Given the description of an element on the screen output the (x, y) to click on. 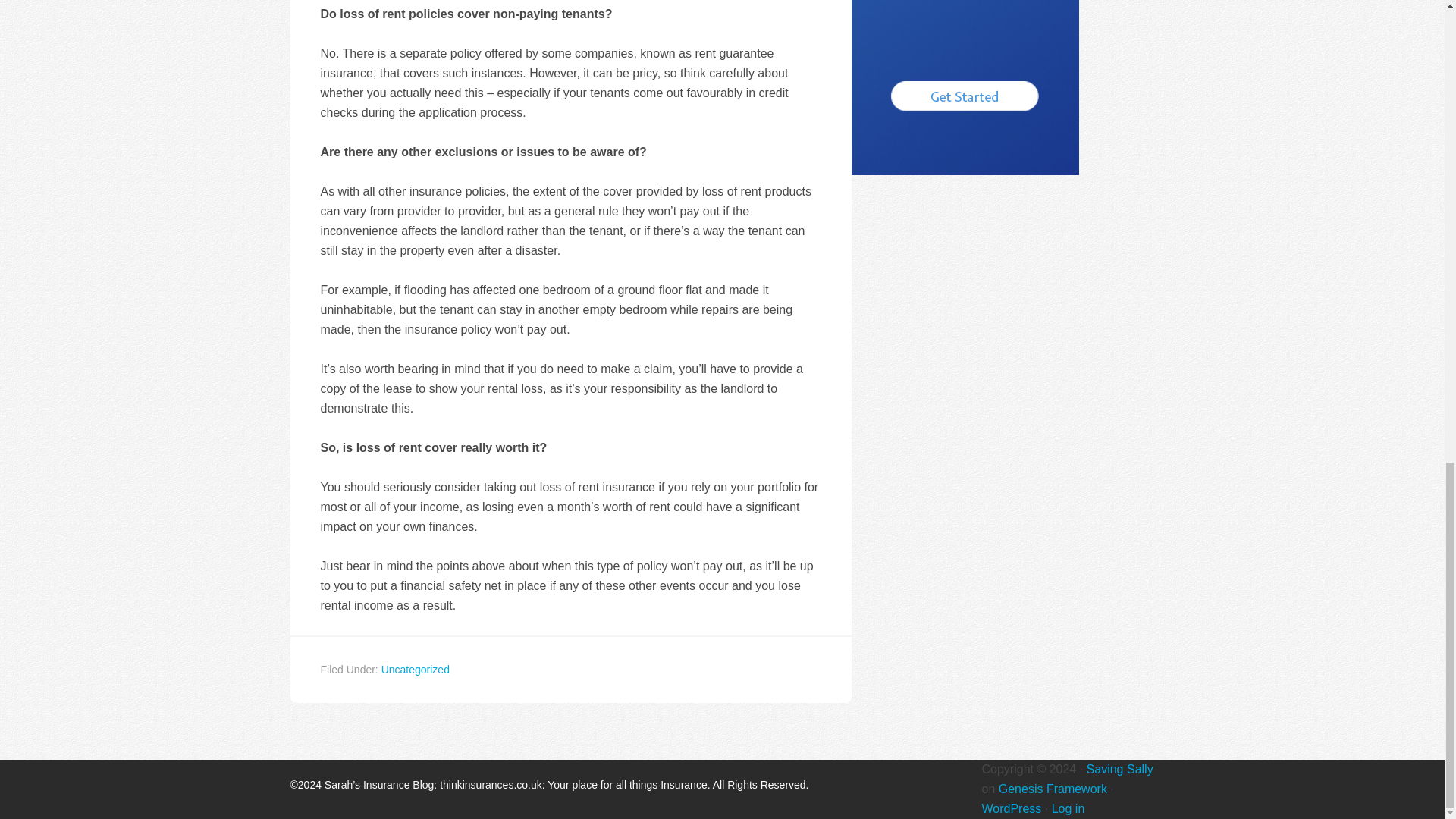
WordPress (1011, 807)
Uncategorized (415, 669)
Genesis Framework (1052, 788)
Saving Sally (1119, 768)
Log in (1067, 807)
